Given the description of an element on the screen output the (x, y) to click on. 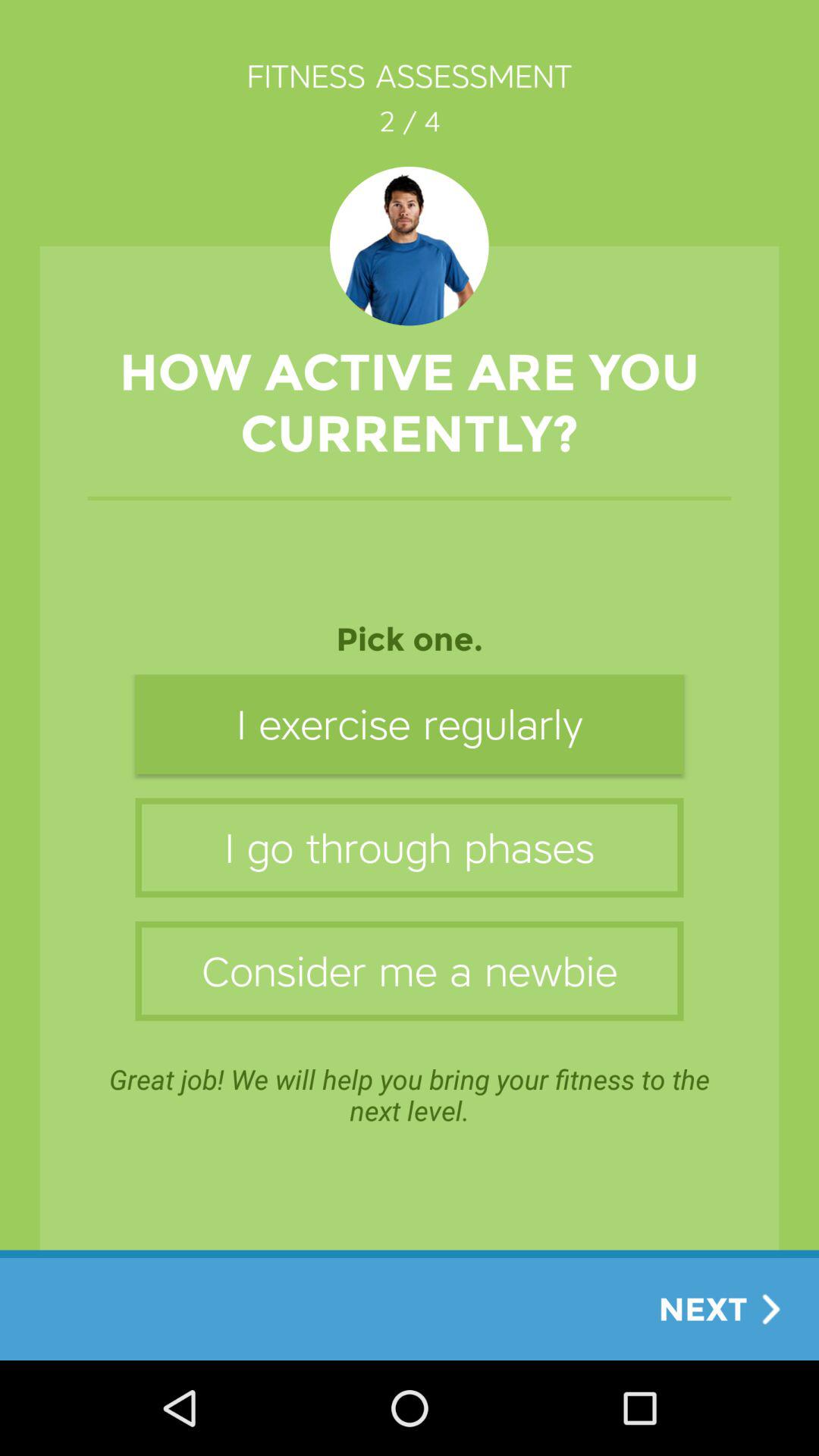
select the icon below pick one. item (409, 724)
